Given the description of an element on the screen output the (x, y) to click on. 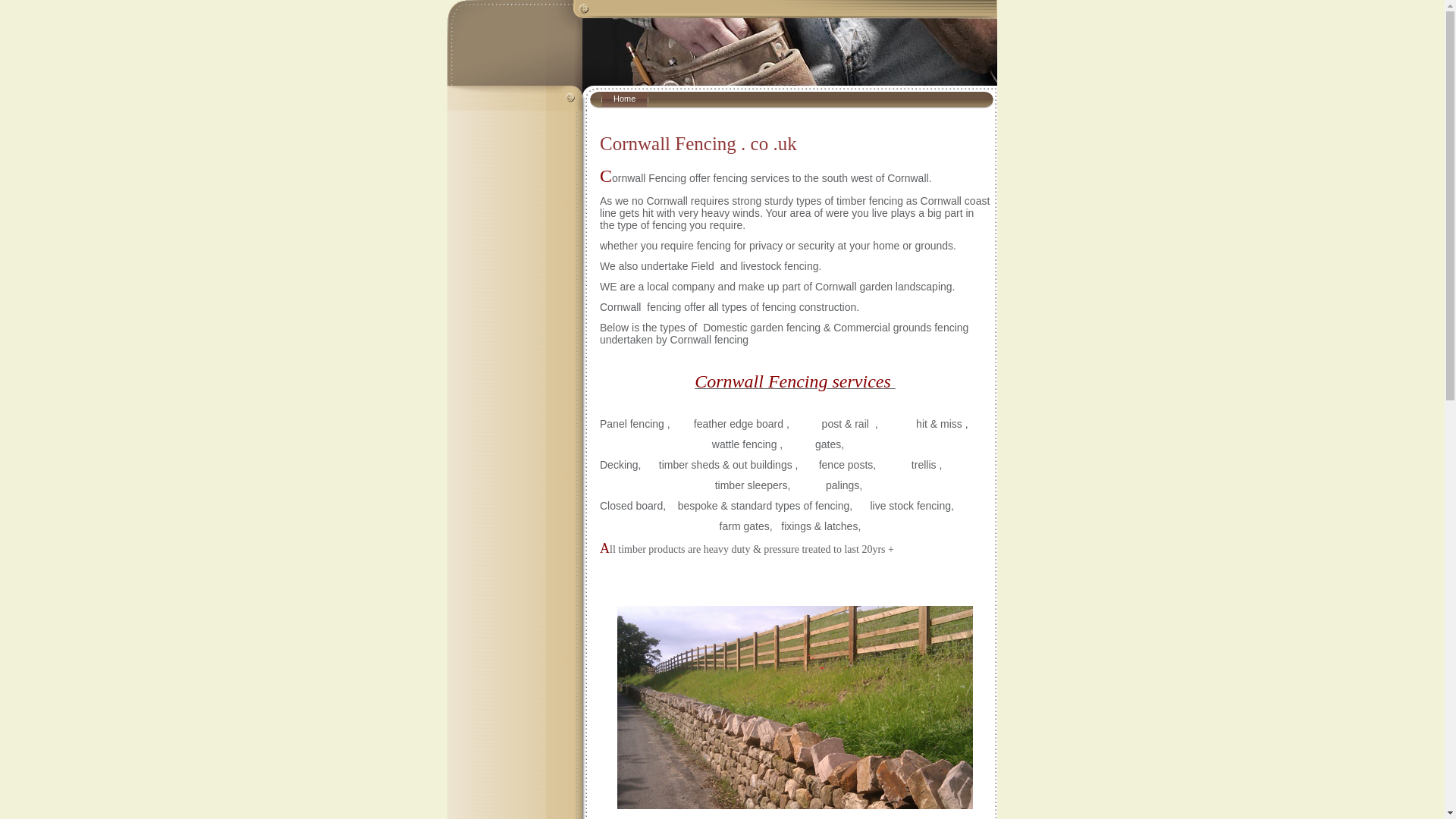
Home (624, 99)
